Given the description of an element on the screen output the (x, y) to click on. 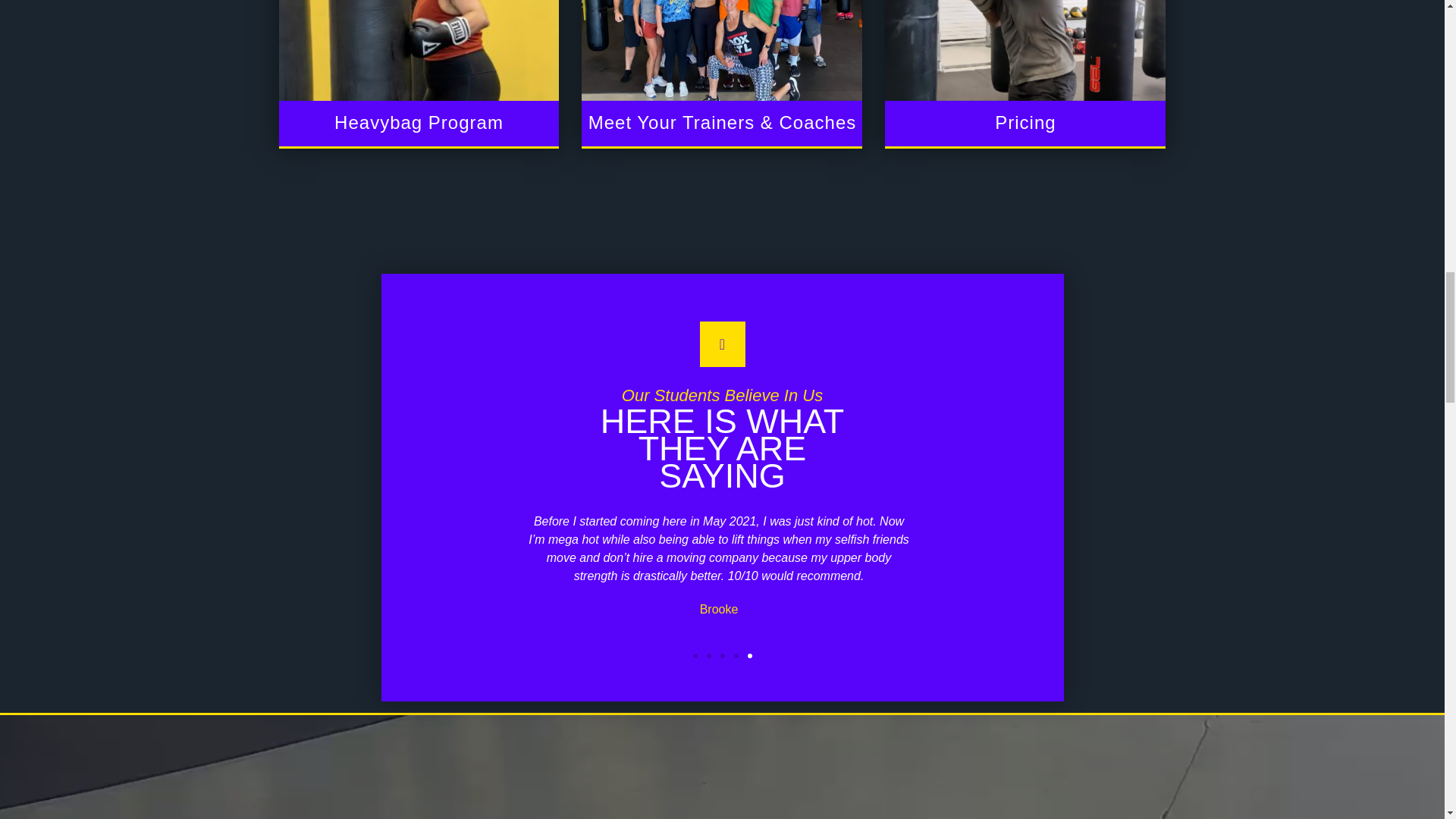
Pricing (1025, 73)
Heavybag Program (419, 73)
